Given the description of an element on the screen output the (x, y) to click on. 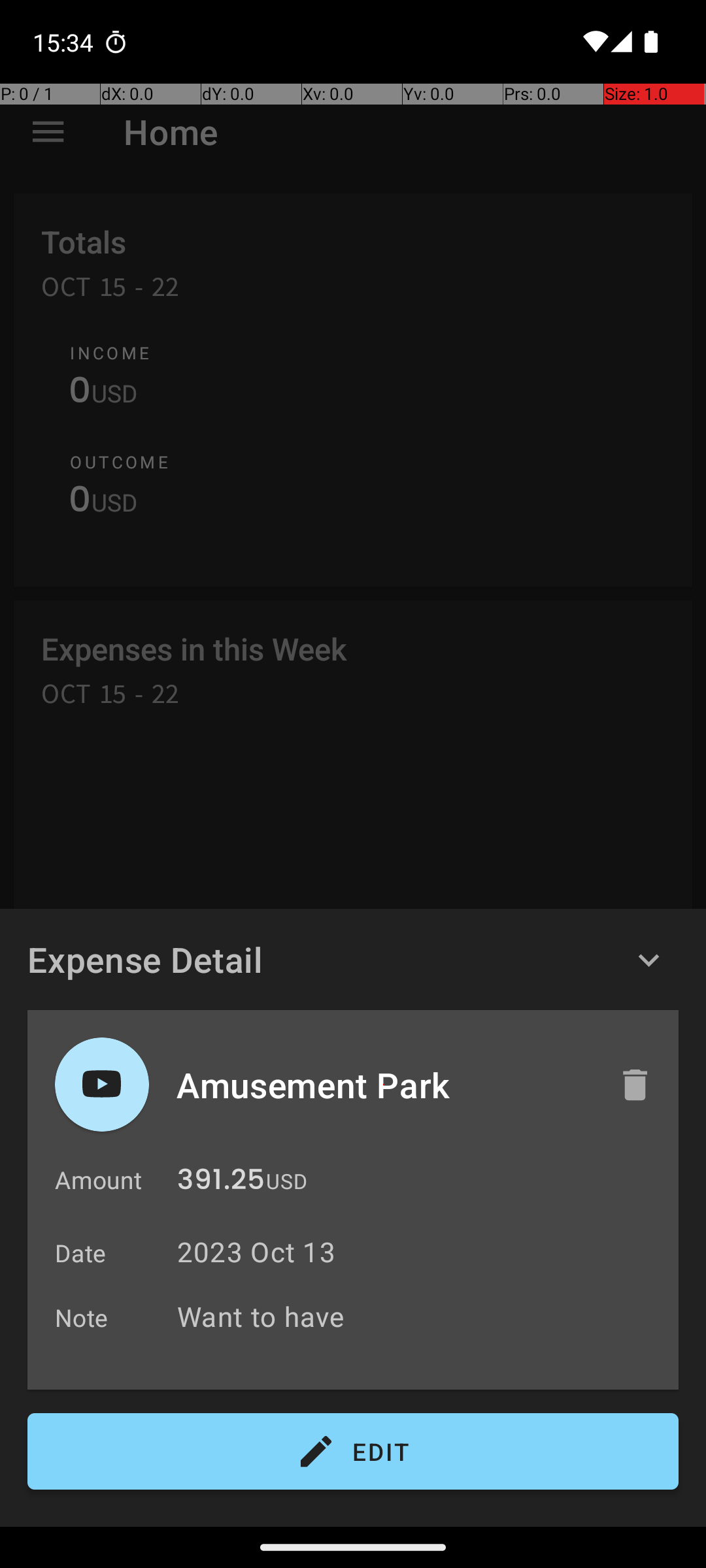
Amusement Park Element type: android.widget.TextView (383, 1084)
391.25 Element type: android.widget.TextView (220, 1182)
